Given the description of an element on the screen output the (x, y) to click on. 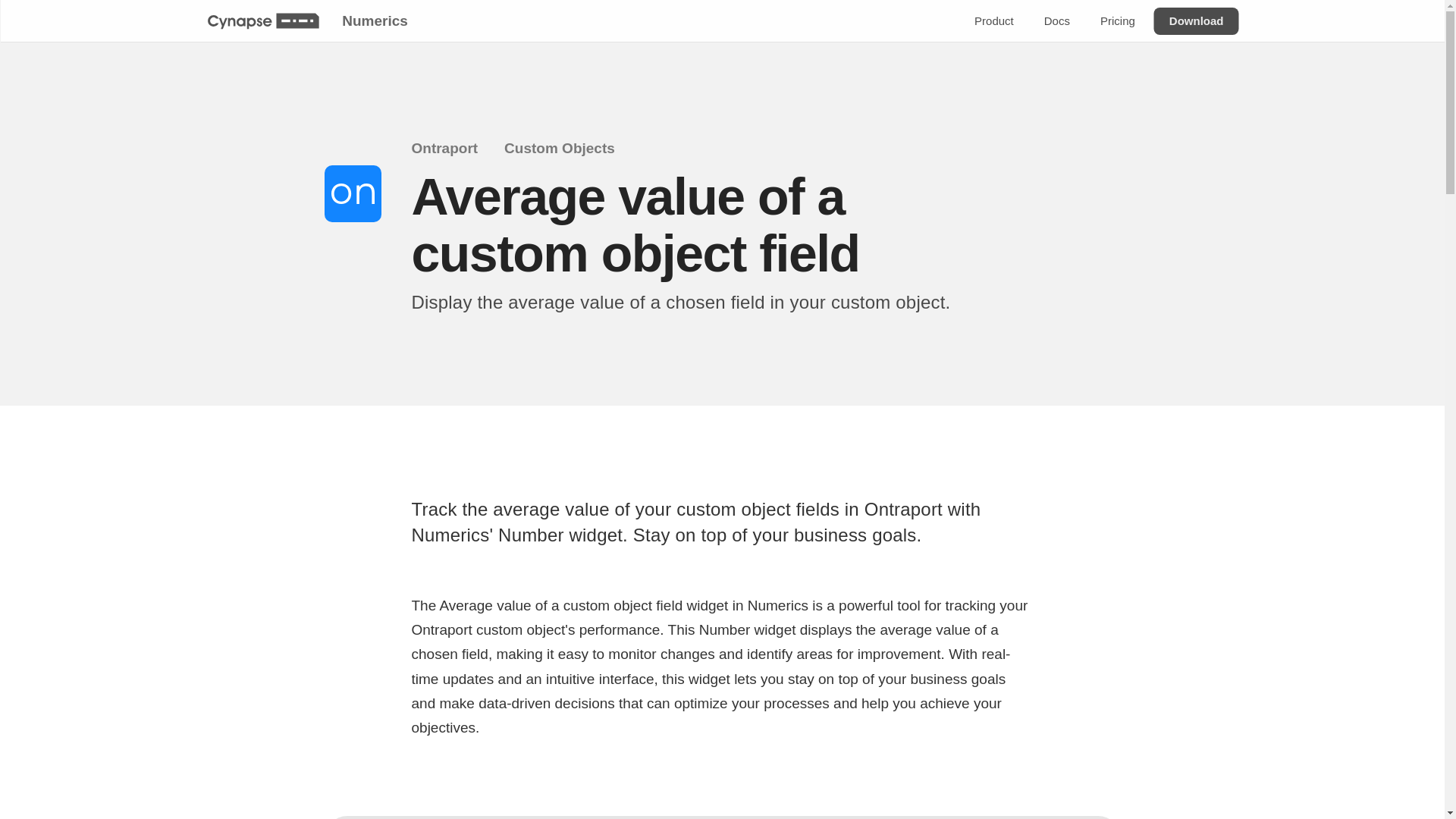
Docs (1056, 21)
Custom Objects (568, 148)
Ontraport (453, 148)
Product (993, 21)
Numerics (373, 20)
Download (1196, 21)
Pricing (1116, 21)
